Given the description of an element on the screen output the (x, y) to click on. 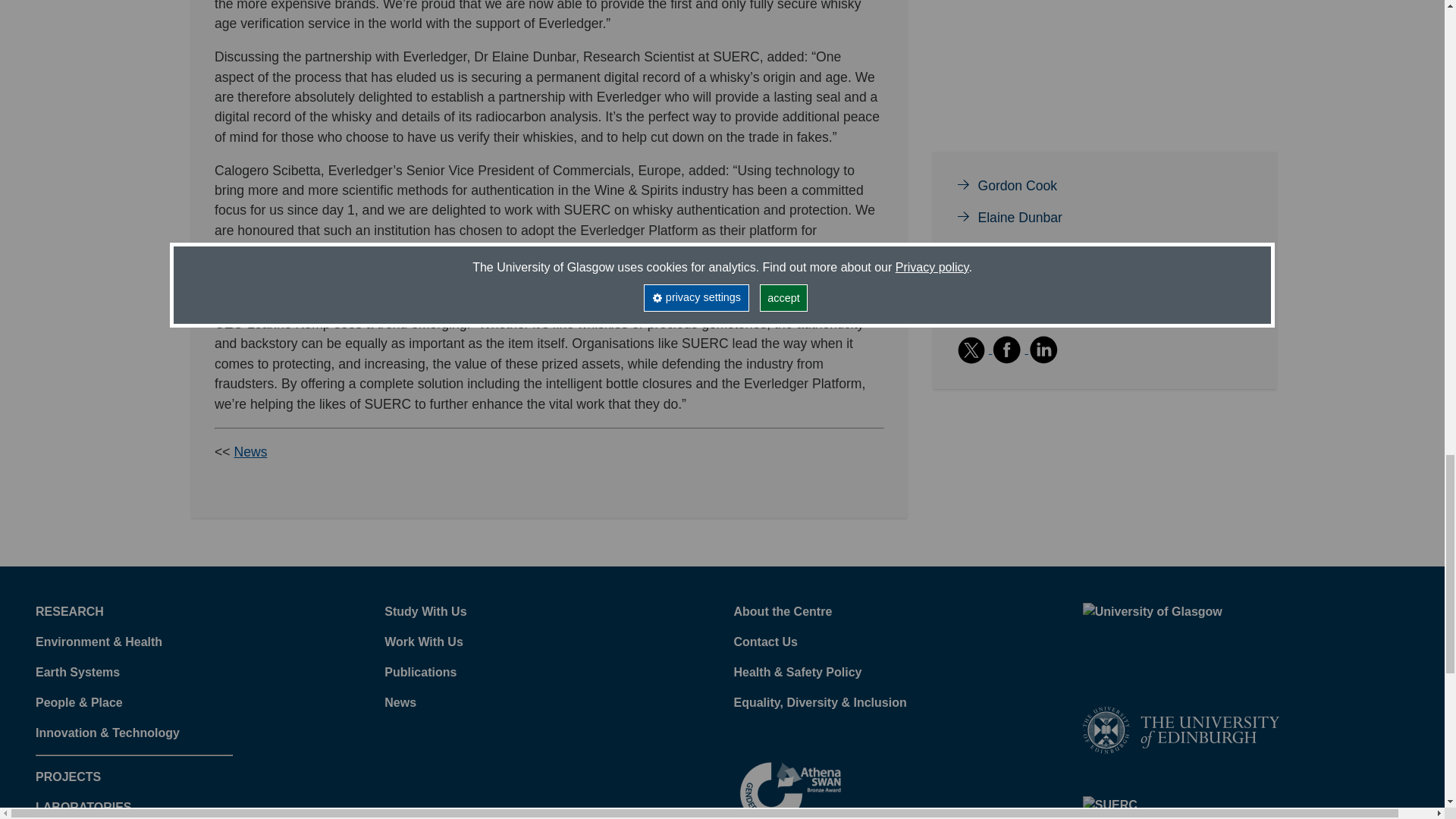
News (249, 451)
University of Glasgow (1181, 632)
University of Edinburgh (1181, 728)
